Given the description of an element on the screen output the (x, y) to click on. 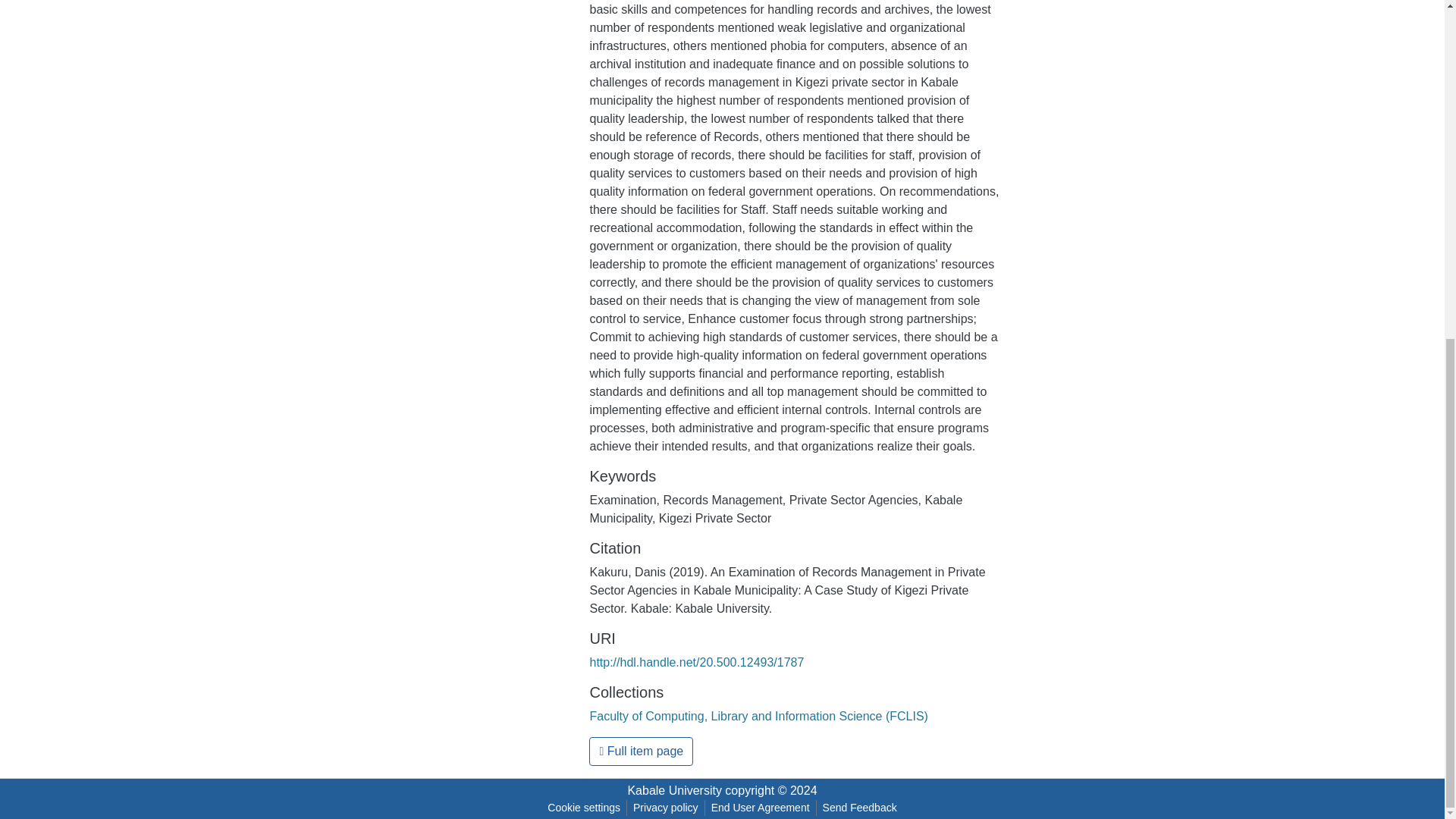
Privacy policy (665, 807)
Send Feedback (859, 807)
Full item page (641, 751)
End User Agreement (759, 807)
Kabale University (674, 789)
Cookie settings (583, 807)
